Given the description of an element on the screen output the (x, y) to click on. 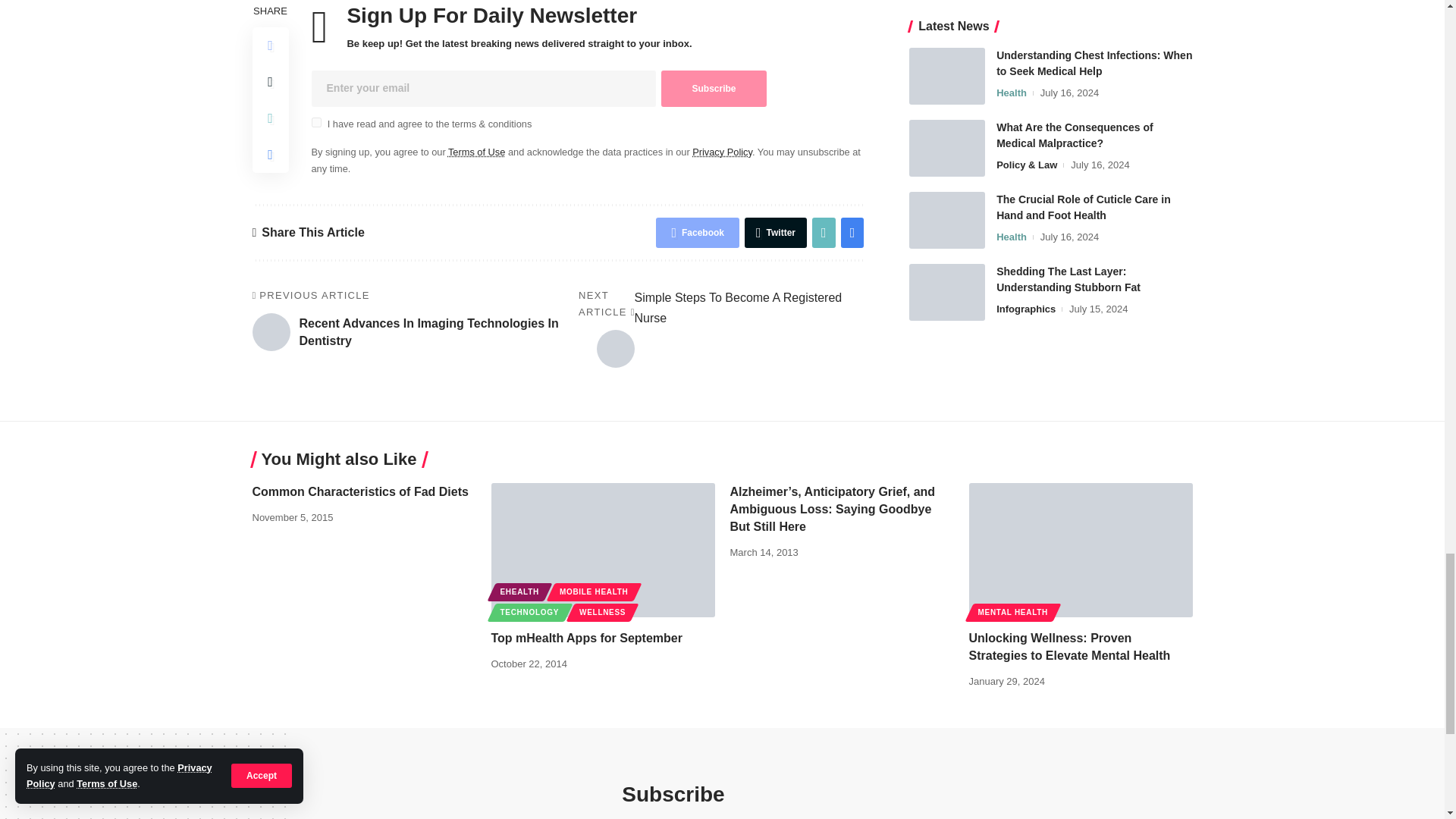
Subscribe (713, 88)
1 (315, 122)
